Given the description of an element on the screen output the (x, y) to click on. 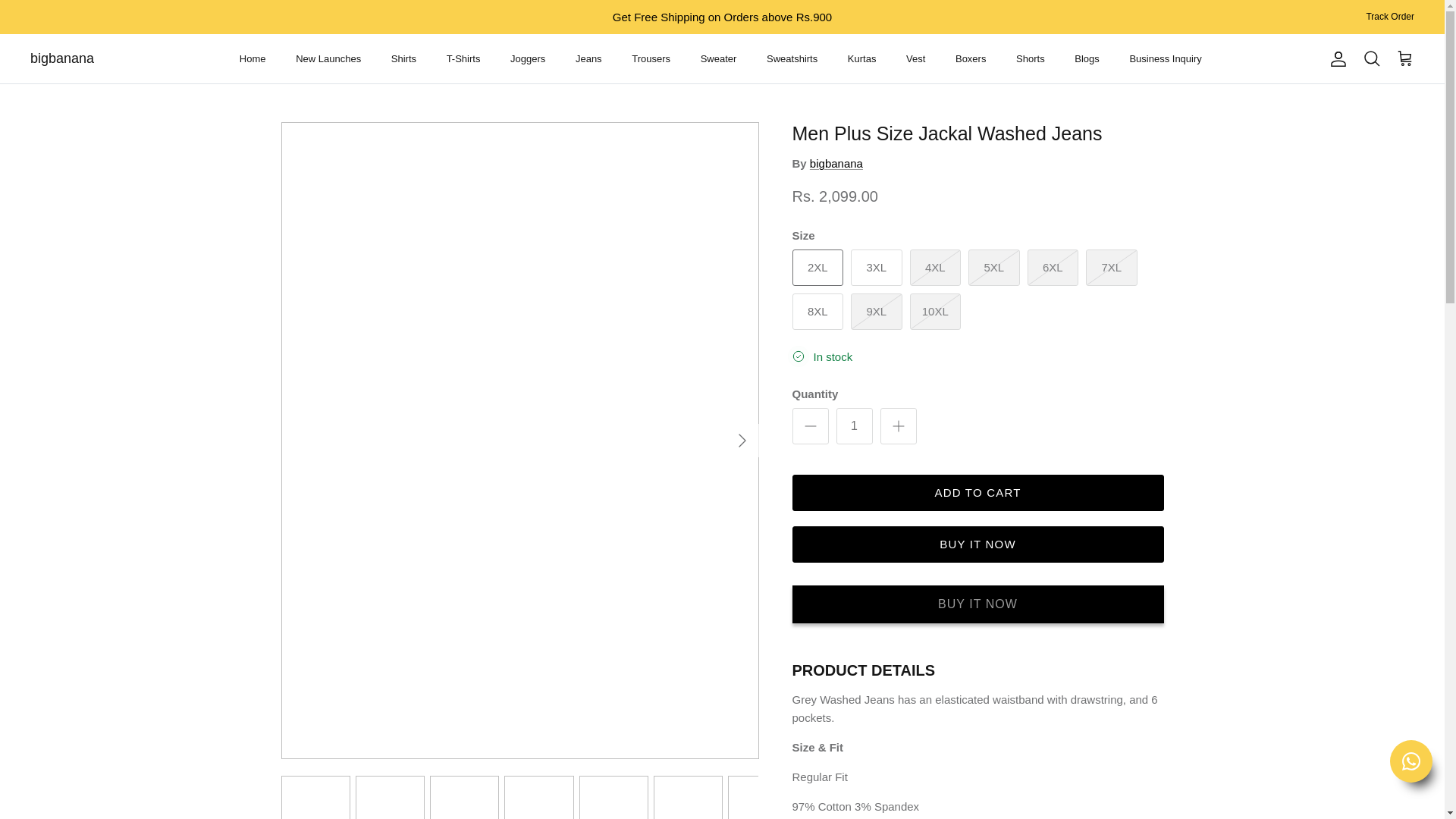
bigbanana (62, 58)
Sweatshirts (791, 59)
Minus (809, 425)
T-Shirts (463, 59)
Shirts (403, 59)
Joggers (527, 59)
Cart (1404, 58)
Jeans (588, 59)
Business Inquiry (1164, 59)
Boxers (970, 59)
Vest (915, 59)
RIGHT (741, 440)
bigbanana (62, 58)
Track Order (1389, 16)
Search (1371, 58)
